Given the description of an element on the screen output the (x, y) to click on. 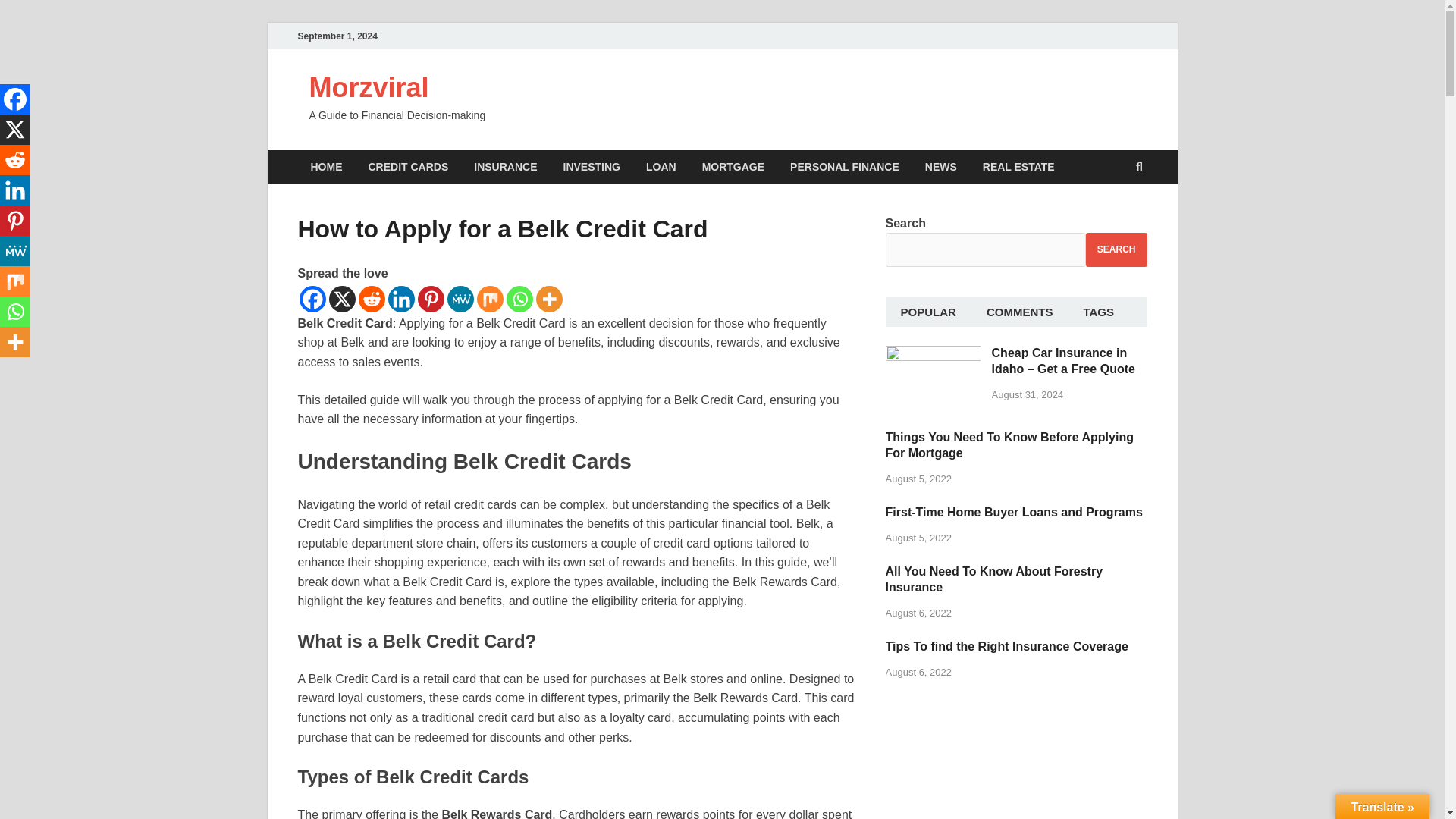
INVESTING (591, 166)
MeWe (460, 298)
Facebook (311, 298)
HOME (326, 166)
LOAN (660, 166)
Pinterest (430, 298)
REAL ESTATE (1018, 166)
Linkedin (401, 298)
NEWS (940, 166)
Reddit (15, 159)
